Given the description of an element on the screen output the (x, y) to click on. 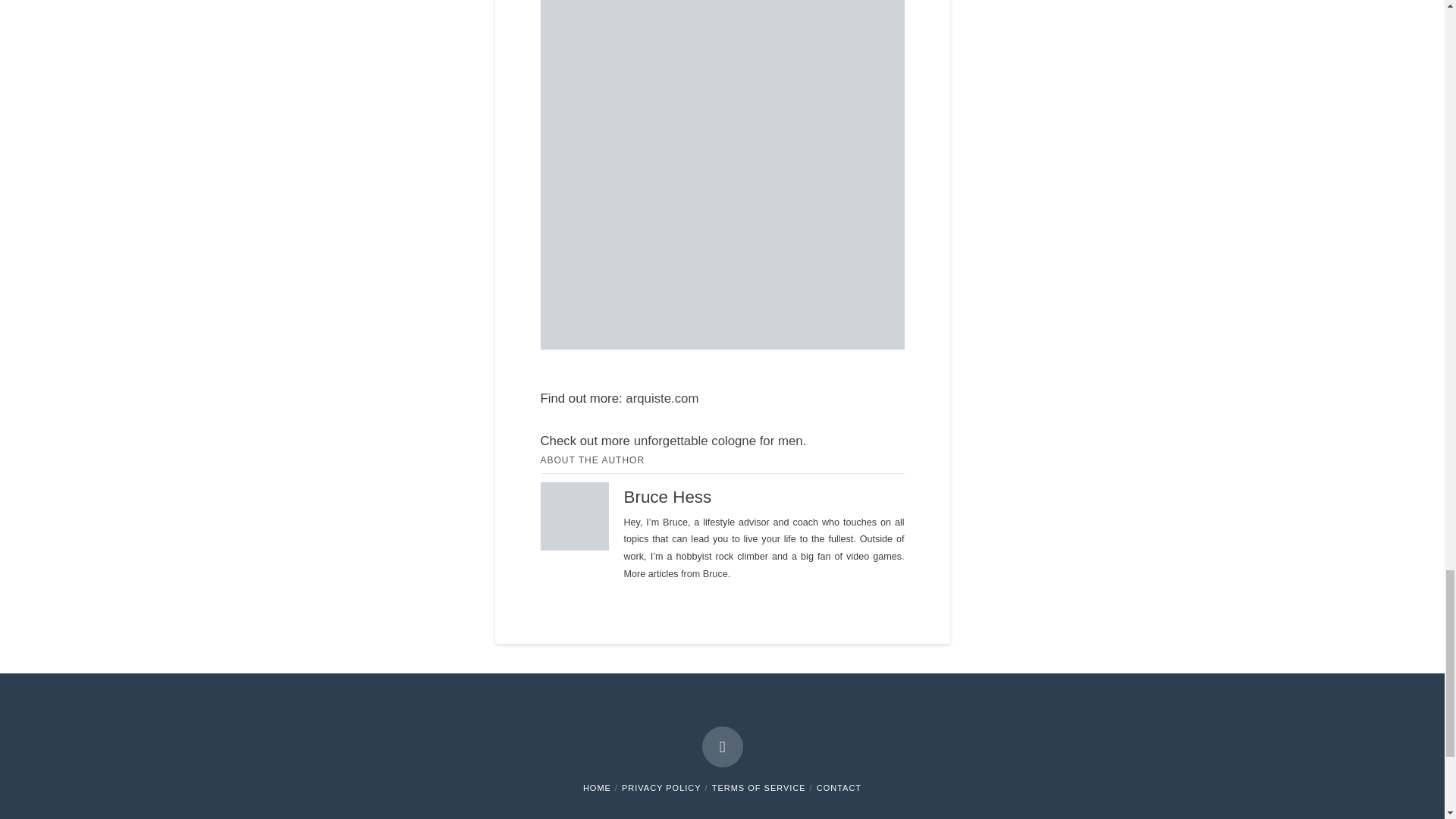
unforgettable cologne for men (718, 440)
HOME (597, 787)
Facebook (721, 746)
CONTACT (838, 787)
from Bruce (704, 573)
TERMS OF SERVICE (758, 787)
PRIVACY POLICY (661, 787)
arquiste.com (662, 398)
